Given the description of an element on the screen output the (x, y) to click on. 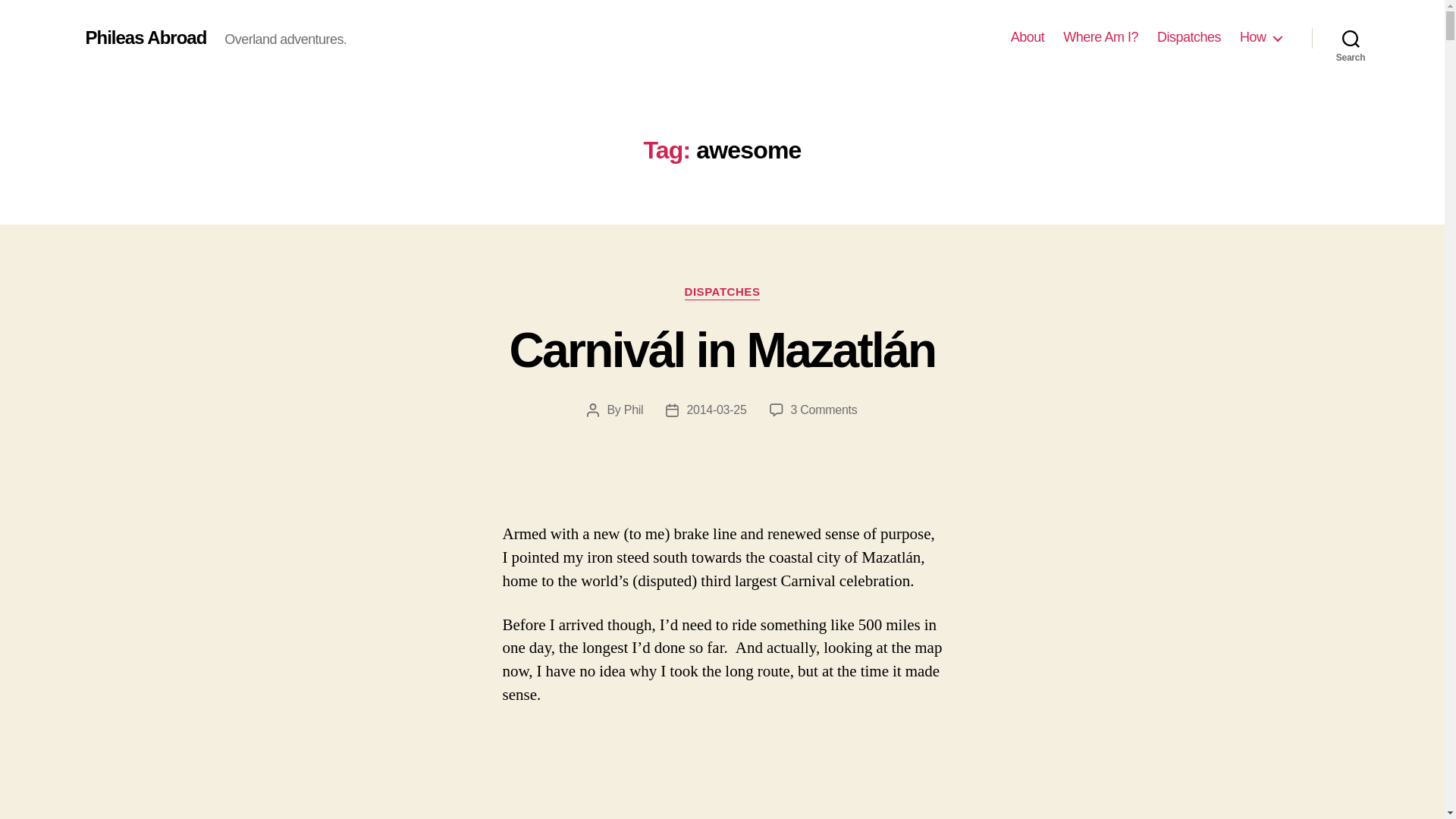
Search (1350, 37)
About (1027, 37)
DISPATCHES (722, 292)
Dispatches (1189, 37)
How (1260, 37)
Dispatches (1189, 37)
Where Am I? (1100, 37)
2014-03-25 (715, 409)
Phileas Abroad (145, 37)
Phil (633, 409)
